Given the description of an element on the screen output the (x, y) to click on. 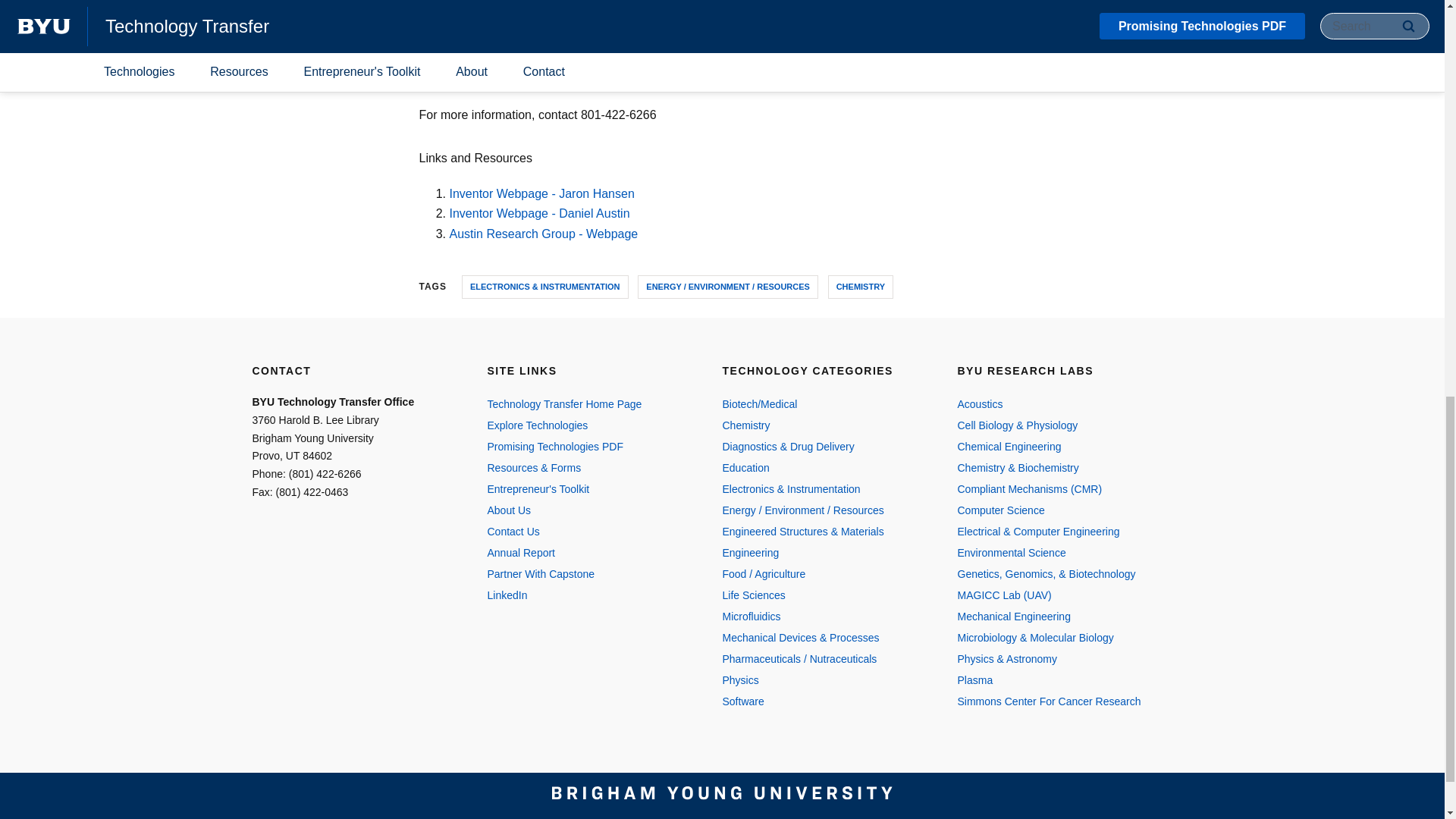
Explore Technologies (588, 424)
Austin Research Group - Webpage (542, 233)
Education (824, 467)
Inventor Webpage - Jaron Hansen (540, 193)
Microfluidics (824, 616)
Partner With Capstone (588, 573)
Engineering (824, 552)
Technology Transfer Home Page (588, 403)
LinkedIn (588, 595)
CHEMISTRY (860, 286)
Life Sciences (824, 595)
Promising Technologies PDF (588, 446)
Contact Us (588, 531)
Annual Report (588, 552)
Entrepreneur'S Toolkit (588, 488)
